Given the description of an element on the screen output the (x, y) to click on. 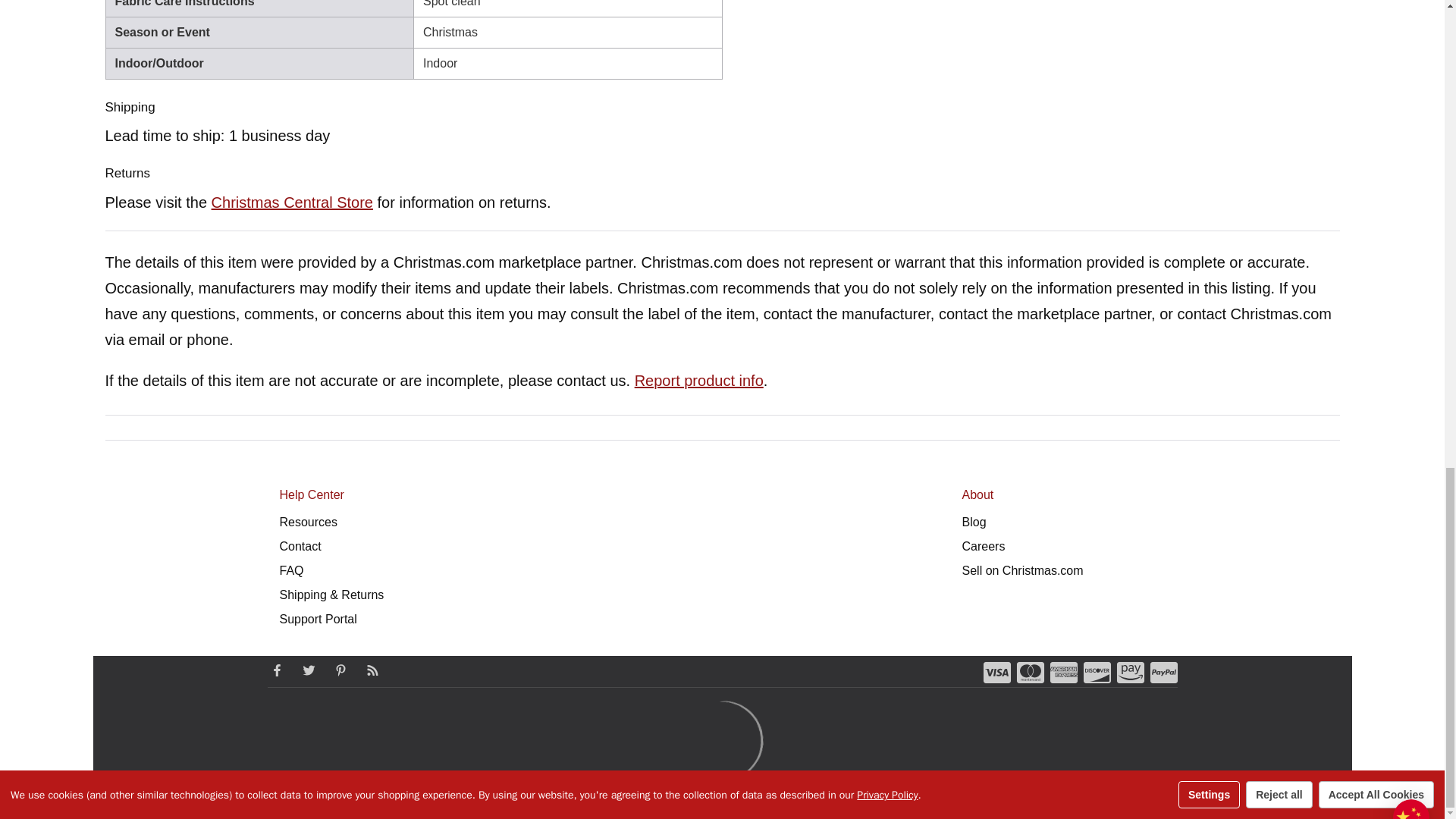
Visa (996, 672)
PayPal (1163, 672)
MasterCard (1029, 672)
Amazon Pay (1129, 672)
Discover (1096, 672)
MasterCard (1029, 672)
American Express (1063, 672)
Amazon Pay (1129, 672)
PayPal (1163, 672)
American Express (1063, 672)
Visa (996, 672)
Discover (1096, 672)
